Given the description of an element on the screen output the (x, y) to click on. 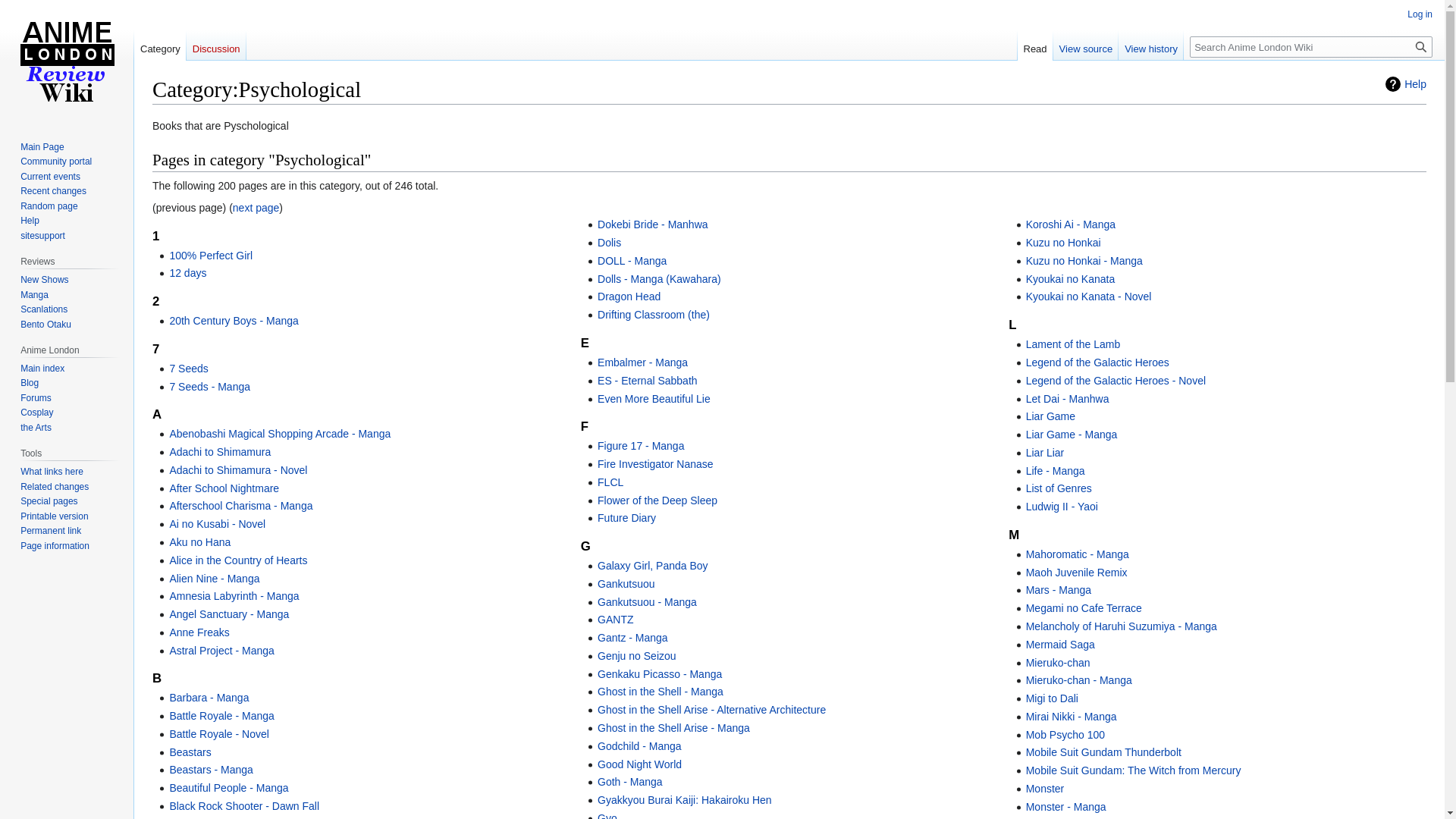
Alien Nine - Manga Element type: text (214, 578)
Angel Sanctuary - Manga Element type: text (228, 614)
Embalmer - Manga Element type: text (642, 362)
Amnesia Labyrinth - Manga Element type: text (233, 595)
Random page Element type: text (48, 205)
Megami no Cafe Terrace Element type: text (1084, 608)
Migi to Dali Element type: text (1052, 698)
Help Element type: text (1405, 83)
Permanent link Element type: text (50, 530)
After School Nightmare Element type: text (224, 488)
Read Element type: text (1035, 45)
Goth - Manga Element type: text (629, 781)
Mahoromatic - Manga Element type: text (1077, 554)
Battle Royale - Novel Element type: text (219, 734)
Monster - Manga Element type: text (1066, 806)
Mermaid Saga Element type: text (1060, 644)
Blog Element type: text (29, 382)
Jump to navigation Element type: text (151, 116)
Figure 17 - Manga Element type: text (640, 445)
Godchild - Manga Element type: text (639, 746)
What links here Element type: text (51, 471)
Genju no Seizou Element type: text (636, 655)
Liar Game Element type: text (1050, 416)
Ghost in the Shell - Manga Element type: text (660, 691)
Adachi to Shimamura - Novel Element type: text (238, 470)
Lament of the Lamb Element type: text (1073, 344)
20th Century Boys - Manga Element type: text (233, 320)
Kuzu no Honkai - Manga Element type: text (1084, 260)
Main Page Element type: text (41, 146)
Afterschool Charisma - Manga Element type: text (240, 505)
ES - Eternal Sabbath Element type: text (647, 380)
Koroshi Ai - Manga Element type: text (1070, 224)
Black Rock Shooter - Dawn Fall Element type: text (244, 806)
Dokebi Bride - Manhwa Element type: text (652, 224)
Kyoukai no Kanata - Novel Element type: text (1088, 296)
Beautiful People - Manga Element type: text (228, 787)
Ghost in the Shell Arise - Alternative Architecture Element type: text (711, 709)
Adachi to Shimamura Element type: text (219, 451)
Flower of the Deep Sleep Element type: text (657, 500)
7 Seeds - Manga Element type: text (209, 386)
Community portal Element type: text (55, 161)
Discussion Element type: text (216, 45)
Gankutsuou Element type: text (626, 583)
Dragon Head Element type: text (628, 296)
Anne Freaks Element type: text (199, 632)
GANTZ Element type: text (615, 619)
New Shows Element type: text (44, 279)
Bento Otaku Element type: text (45, 324)
Liar Game - Manga Element type: text (1071, 434)
Mieruko-chan Element type: text (1058, 662)
Main index Element type: text (42, 368)
sitesupport Element type: text (42, 235)
Legend of the Galactic Heroes Element type: text (1097, 362)
List of Genres Element type: text (1059, 488)
Kyoukai no Kanata Element type: text (1070, 279)
Beastars - Manga Element type: text (211, 769)
Manga Element type: text (34, 294)
Forums Element type: text (35, 397)
Dolis Element type: text (609, 242)
Current events Element type: text (50, 176)
Mars - Manga Element type: text (1058, 589)
Kuzu no Honkai Element type: text (1063, 242)
Ludwig II - Yaoi Element type: text (1062, 506)
12 days Element type: text (187, 272)
Category Element type: text (160, 45)
Ghost in the Shell Arise - Manga Element type: text (673, 727)
View history Element type: text (1150, 45)
Related changes Element type: text (54, 486)
Life - Manga Element type: text (1055, 470)
Visit the main page Element type: hover (66, 60)
Search Element type: text (1420, 46)
Ai no Kusabi - Novel Element type: text (217, 523)
Page information Element type: text (54, 545)
Liar Liar Element type: text (1045, 452)
Special pages Element type: text (48, 500)
Beastars Element type: text (189, 752)
7 Seeds Element type: text (188, 368)
Printable version Element type: text (53, 516)
Even More Beautiful Lie Element type: text (653, 398)
Legend of the Galactic Heroes - Novel Element type: text (1115, 380)
Alice in the Country of Hearts Element type: text (238, 560)
Mob Psycho 100 Element type: text (1065, 734)
Search Anime London Wiki [alt-shift-f] Element type: hover (1310, 46)
Help Element type: text (29, 220)
Genkaku Picasso - Manga Element type: text (659, 674)
Melancholy of Haruhi Suzumiya - Manga Element type: text (1121, 626)
Let Dai - Manhwa Element type: text (1067, 398)
Drifting Classroom (the) Element type: text (653, 314)
Gyakkyou Burai Kaiji: Hakairoku Hen Element type: text (684, 799)
Mieruko-chan - Manga Element type: text (1079, 680)
Mobile Suit Gundam: The Witch from Mercury Element type: text (1133, 770)
Mobile Suit Gundam Thunderbolt Element type: text (1103, 752)
Mirai Nikki - Manga Element type: text (1071, 716)
Astral Project - Manga Element type: text (221, 650)
Galaxy Girl, Panda Boy Element type: text (652, 565)
Battle Royale - Manga Element type: text (221, 715)
DOLL - Manga Element type: text (631, 260)
100% Perfect Girl Element type: text (210, 255)
Fire Investigator Nanase Element type: text (655, 464)
Good Night World Element type: text (639, 764)
next page Element type: text (255, 207)
Gantz - Manga Element type: text (632, 637)
Abenobashi Magical Shopping Arcade - Manga Element type: text (279, 433)
Scanlations Element type: text (43, 309)
Monster Element type: text (1045, 788)
FLCL Element type: text (610, 482)
Log in Element type: text (1419, 14)
the Arts Element type: text (35, 427)
Maoh Juvenile Remix Element type: text (1076, 572)
Aku no Hana Element type: text (199, 542)
View source Element type: text (1086, 45)
Cosplay Element type: text (36, 412)
Dolls - Manga (Kawahara) Element type: text (659, 279)
Future Diary Element type: text (626, 517)
Gankutsuou - Manga Element type: text (646, 602)
Search the pages for this text Element type: hover (1420, 46)
Barbara - Manga Element type: text (208, 697)
Recent changes Element type: text (53, 190)
